Given the description of an element on the screen output the (x, y) to click on. 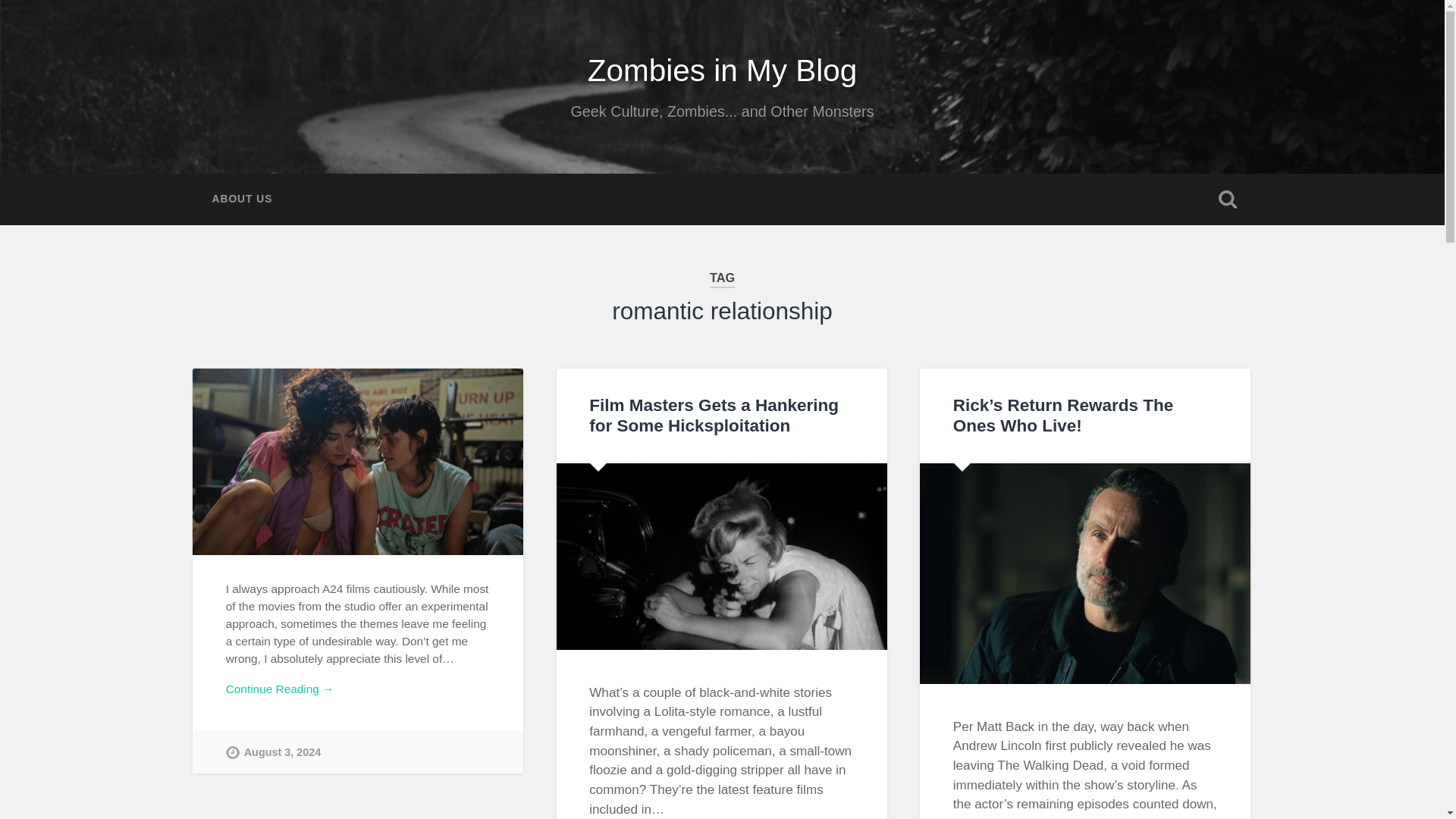
August 3, 2024 (273, 752)
Zombies in My Blog (722, 70)
ABOUT US (241, 199)
Film Masters Gets a Hankering for Some Hicksploitation (713, 414)
